Given the description of an element on the screen output the (x, y) to click on. 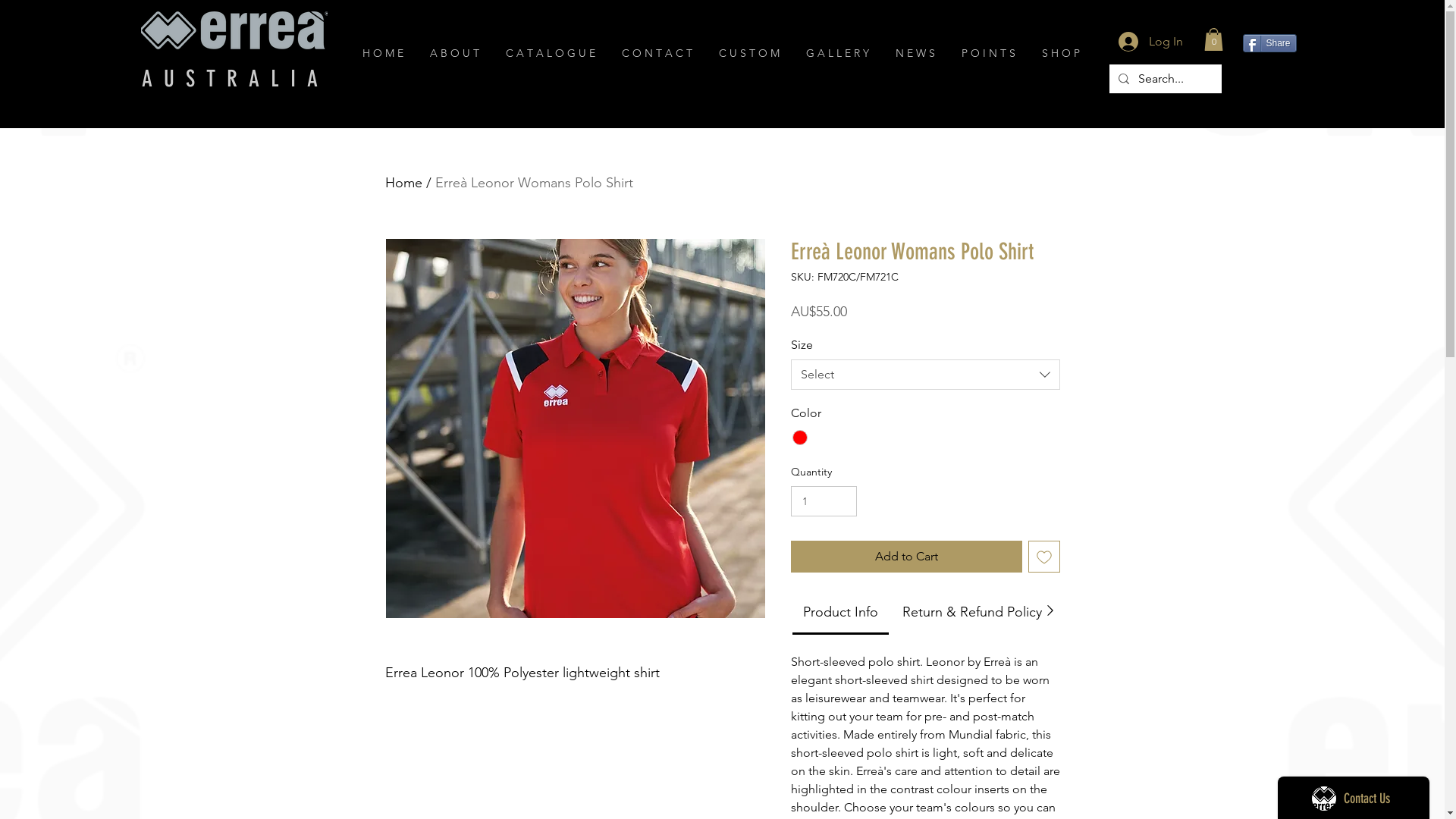
Add to Cart Element type: text (905, 556)
N E W S Element type: text (917, 53)
C O N T A C T Element type: text (657, 53)
Log In Element type: text (1149, 41)
P O I N T S Element type: text (989, 53)
C A T A L O G U E Element type: text (552, 53)
A B O U T Element type: text (456, 53)
0 Element type: text (1213, 39)
C U S T O M Element type: text (749, 53)
Share Element type: text (1268, 43)
G A L L E R Y Element type: text (839, 53)
Select Element type: text (924, 374)
H O M E Element type: text (383, 53)
Home Element type: text (403, 182)
S H O P Element type: text (1061, 53)
Facebook Like Element type: hover (1271, 82)
